Given the description of an element on the screen output the (x, y) to click on. 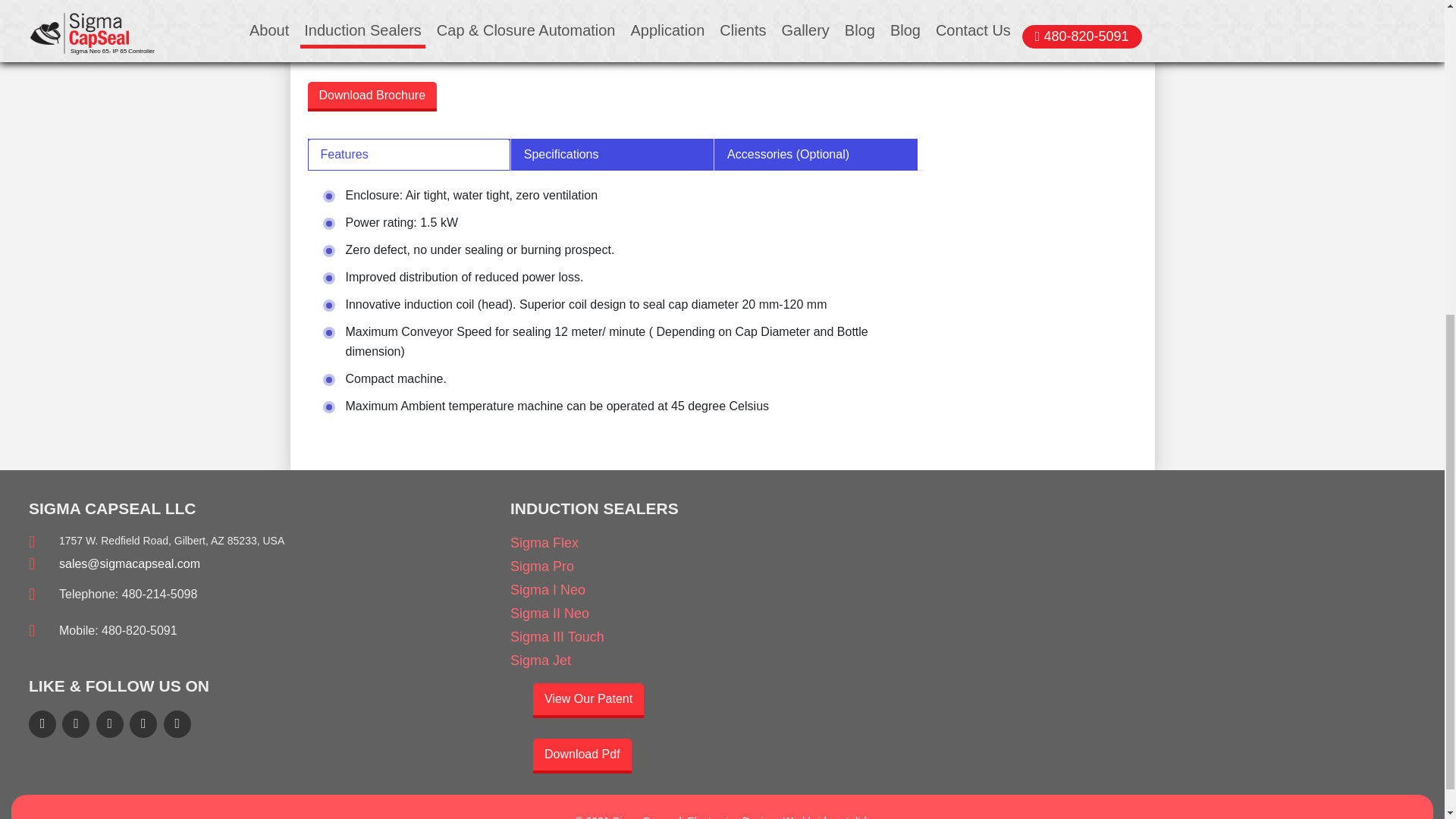
Download Brochure (372, 96)
Features (409, 154)
